Given the description of an element on the screen output the (x, y) to click on. 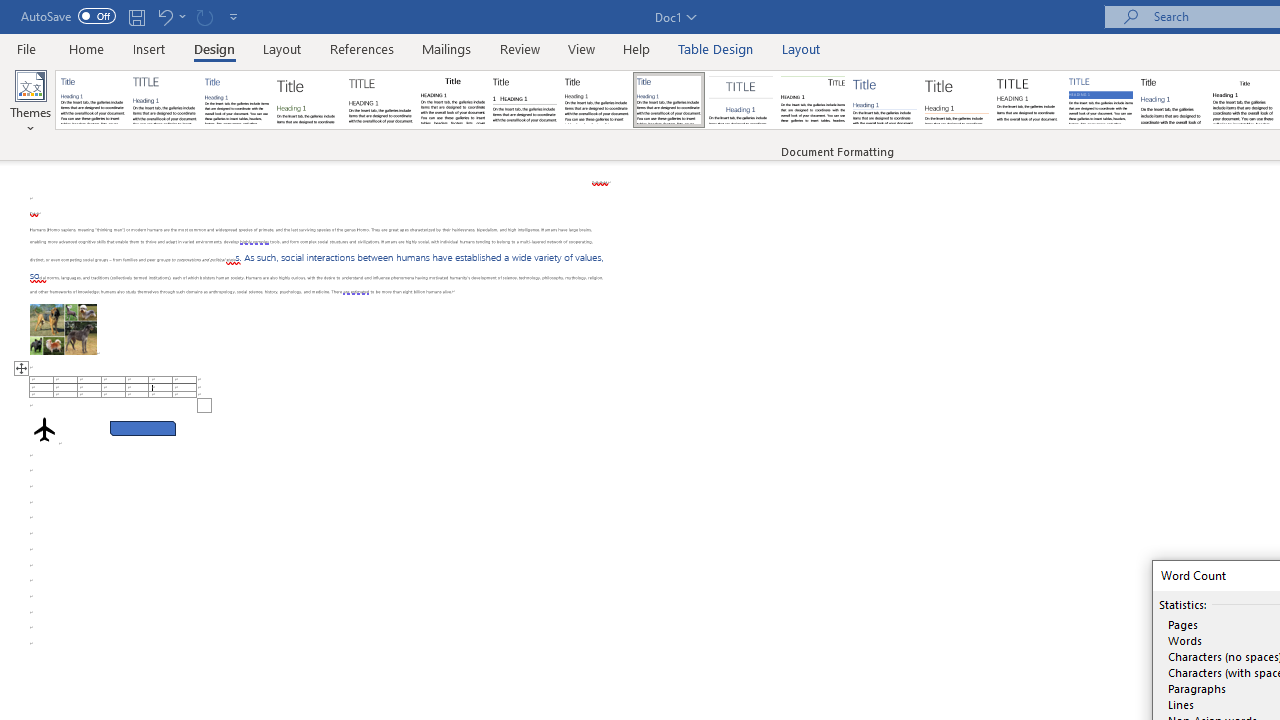
Basic (Elegant) (164, 100)
Lines (Simple) (884, 100)
Undo Apply Quick Style Set (164, 15)
Basic (Simple) (236, 100)
Casual (669, 100)
